Given the description of an element on the screen output the (x, y) to click on. 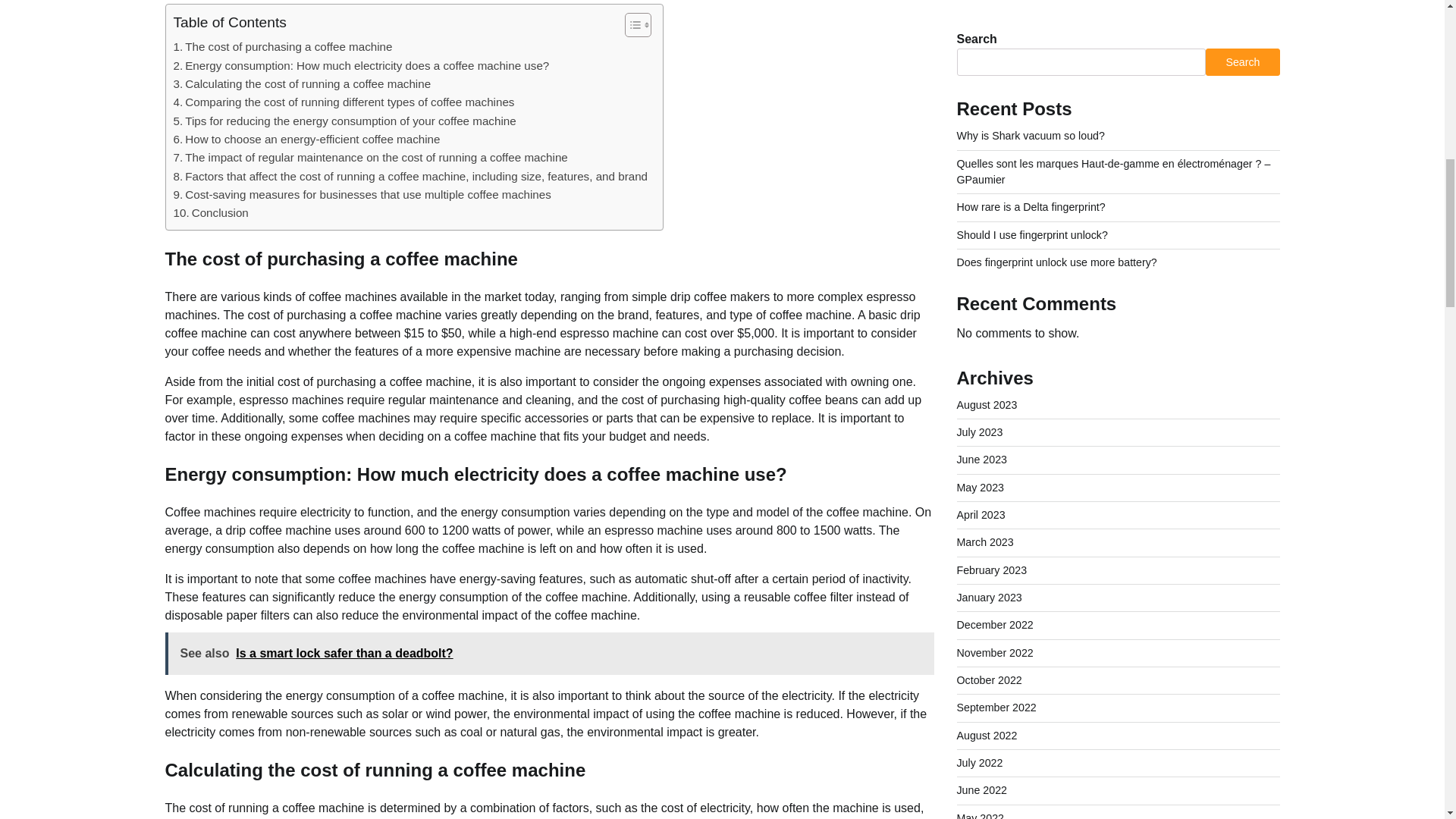
Conclusion (210, 212)
Calculating the cost of running a coffee machine (301, 84)
How to choose an energy-efficient coffee machine (306, 139)
The cost of purchasing a coffee machine (282, 46)
Calculating the cost of running a coffee machine (301, 84)
Conclusion (210, 212)
